Given the description of an element on the screen output the (x, y) to click on. 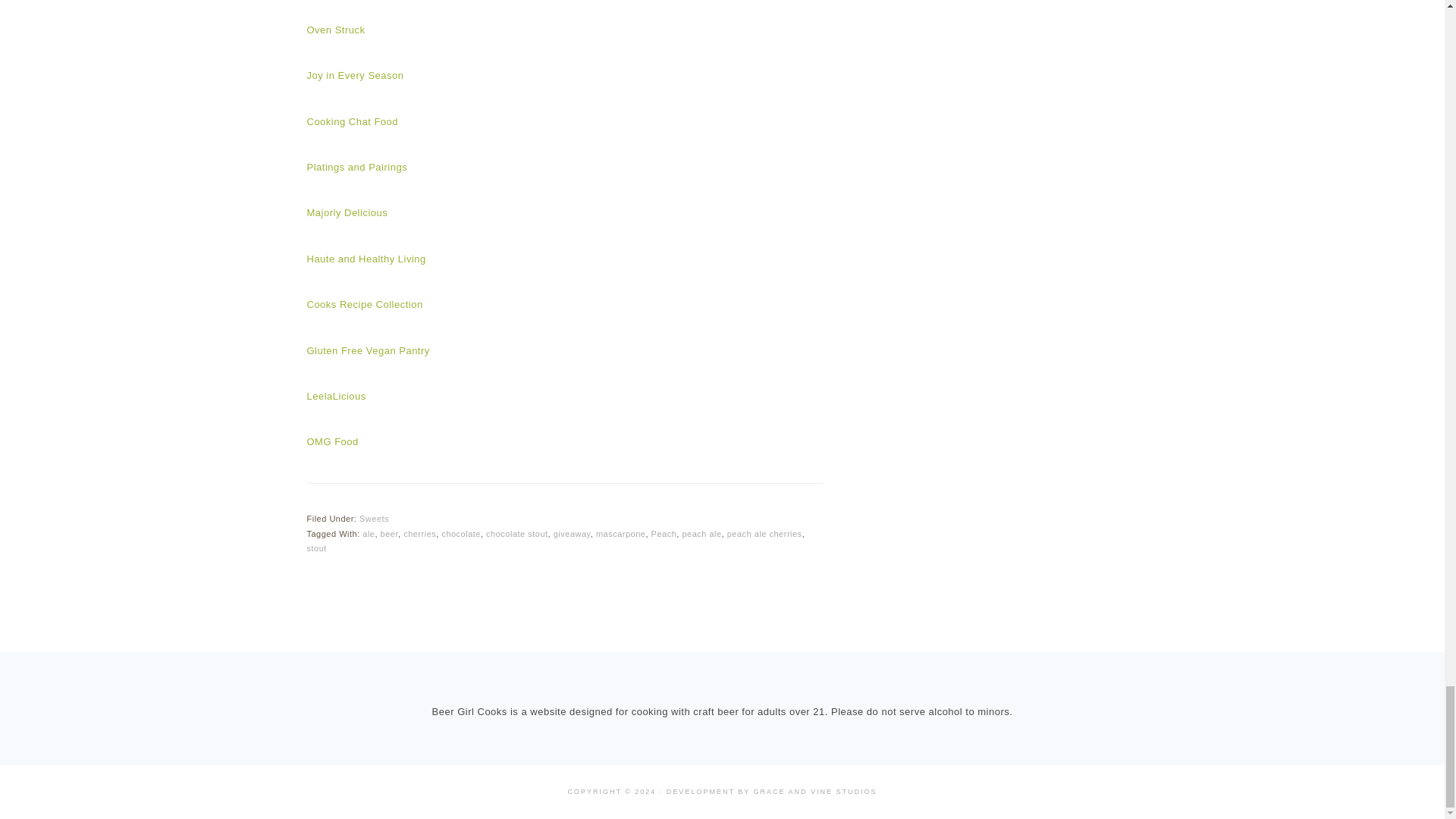
Gluten Free Vegan Pantry (367, 350)
OMG Food (331, 441)
Oven Struck (335, 30)
Sweets (373, 518)
Joy in Every Season (354, 75)
LeelaLicious (335, 396)
Cooking Chat Food (351, 121)
Cooks Recipe Collection (363, 304)
cherries (419, 533)
Majorly Delicious (346, 212)
Platings and Pairings (356, 166)
Haute and Healthy Living (365, 258)
beer (388, 533)
ale (368, 533)
